Given the description of an element on the screen output the (x, y) to click on. 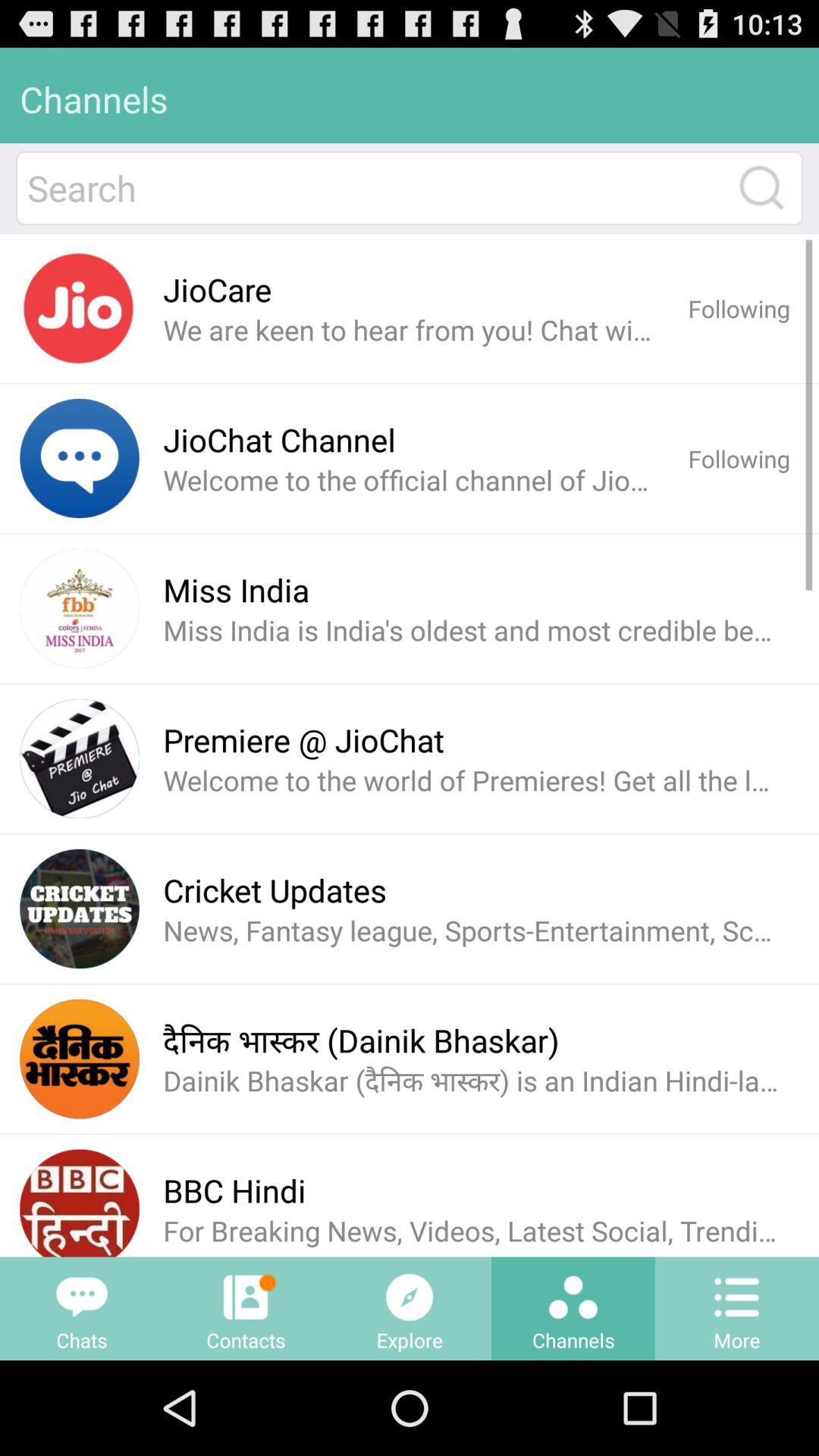
search bar (374, 188)
